Given the description of an element on the screen output the (x, y) to click on. 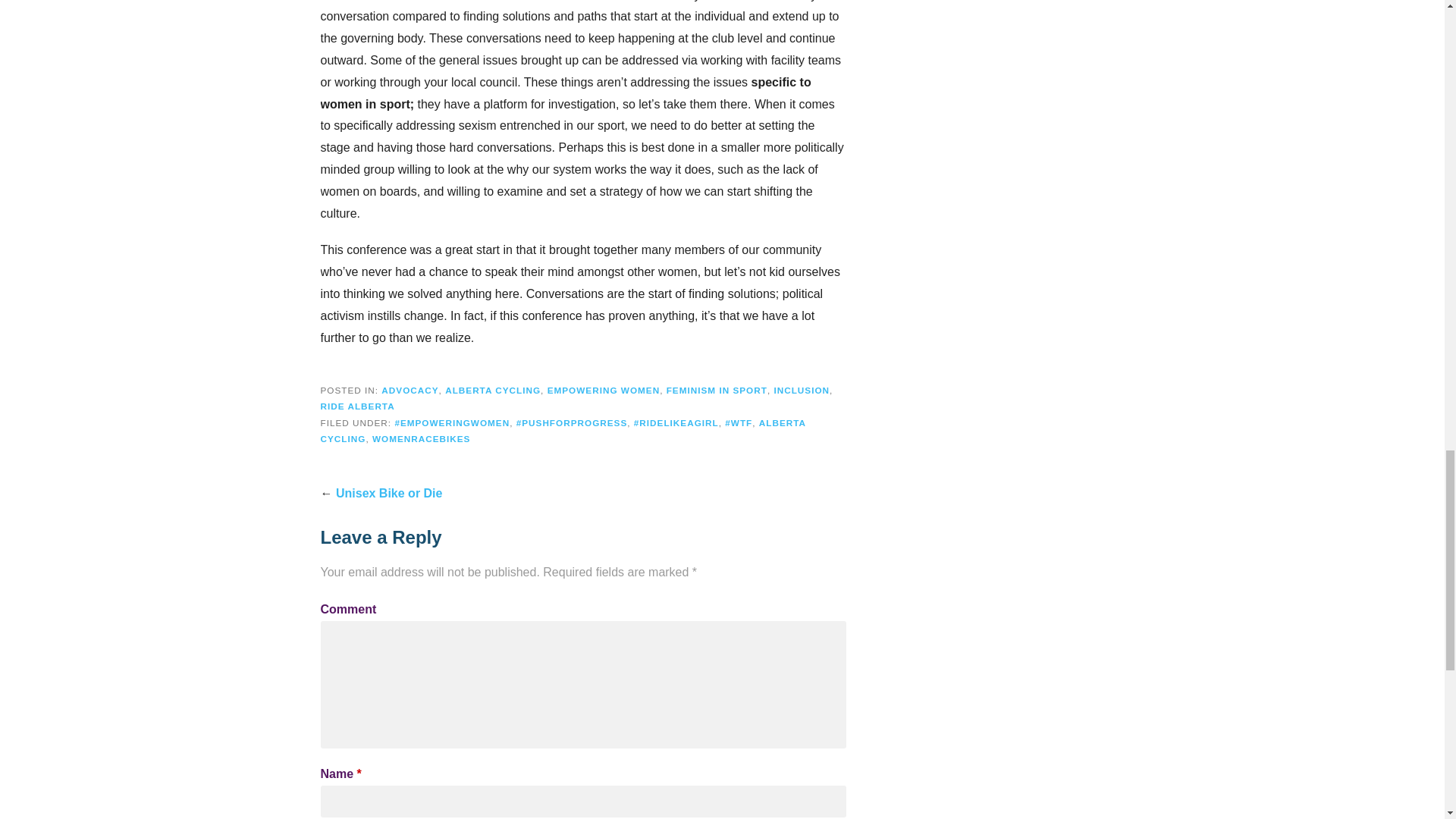
RIDE ALBERTA (357, 406)
INCLUSION (801, 389)
ALBERTA CYCLING (492, 389)
Unisex Bike or Die (389, 492)
FEMINISM IN SPORT (716, 389)
WOMENRACEBIKES (421, 438)
ALBERTA CYCLING (562, 430)
EMPOWERING WOMEN (604, 389)
ADVOCACY (409, 389)
